Given the description of an element on the screen output the (x, y) to click on. 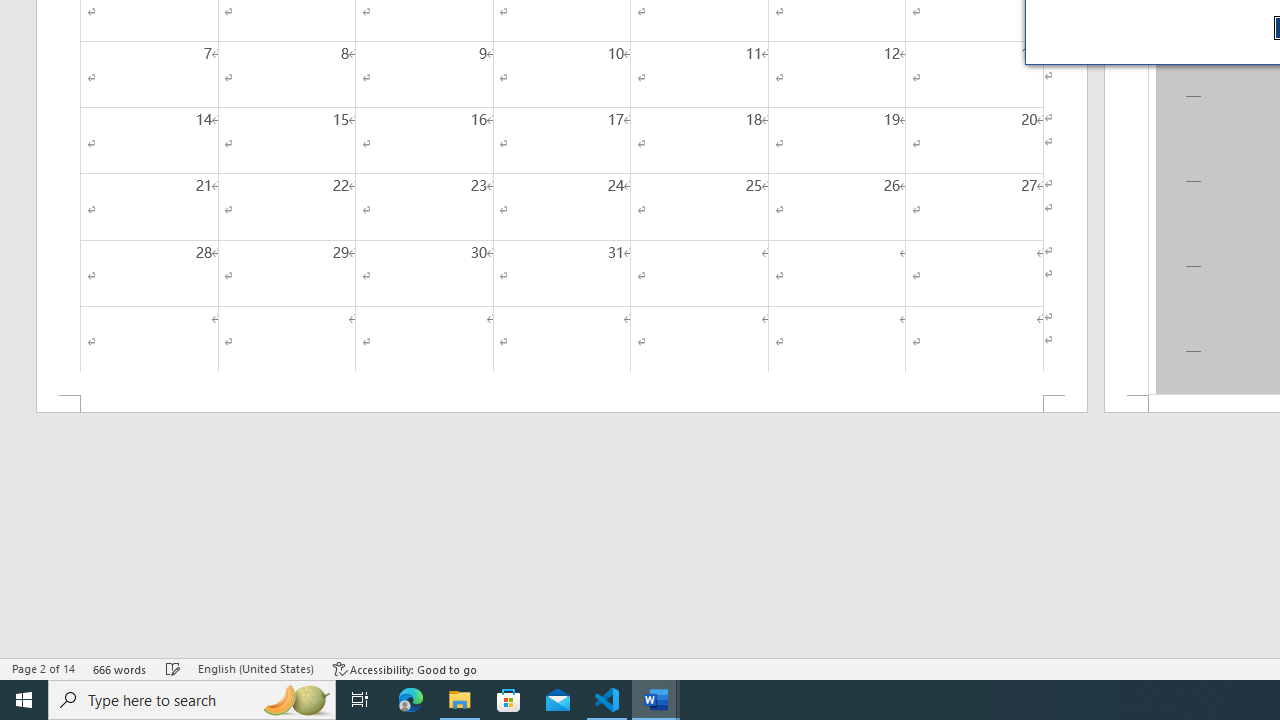
Word Count 666 words (119, 668)
Microsoft Edge (411, 699)
Spelling and Grammar Check Checking (173, 668)
Task View (359, 699)
Accessibility Checker Accessibility: Good to go (405, 668)
File Explorer - 1 running window (460, 699)
Type here to search (191, 699)
Language English (United States) (255, 668)
Visual Studio Code - 1 running window (607, 699)
Footer -Section 1- (561, 404)
Search highlights icon opens search home window (295, 699)
Word - 2 running windows (656, 699)
Microsoft Store (509, 699)
Start (24, 699)
